Given the description of an element on the screen output the (x, y) to click on. 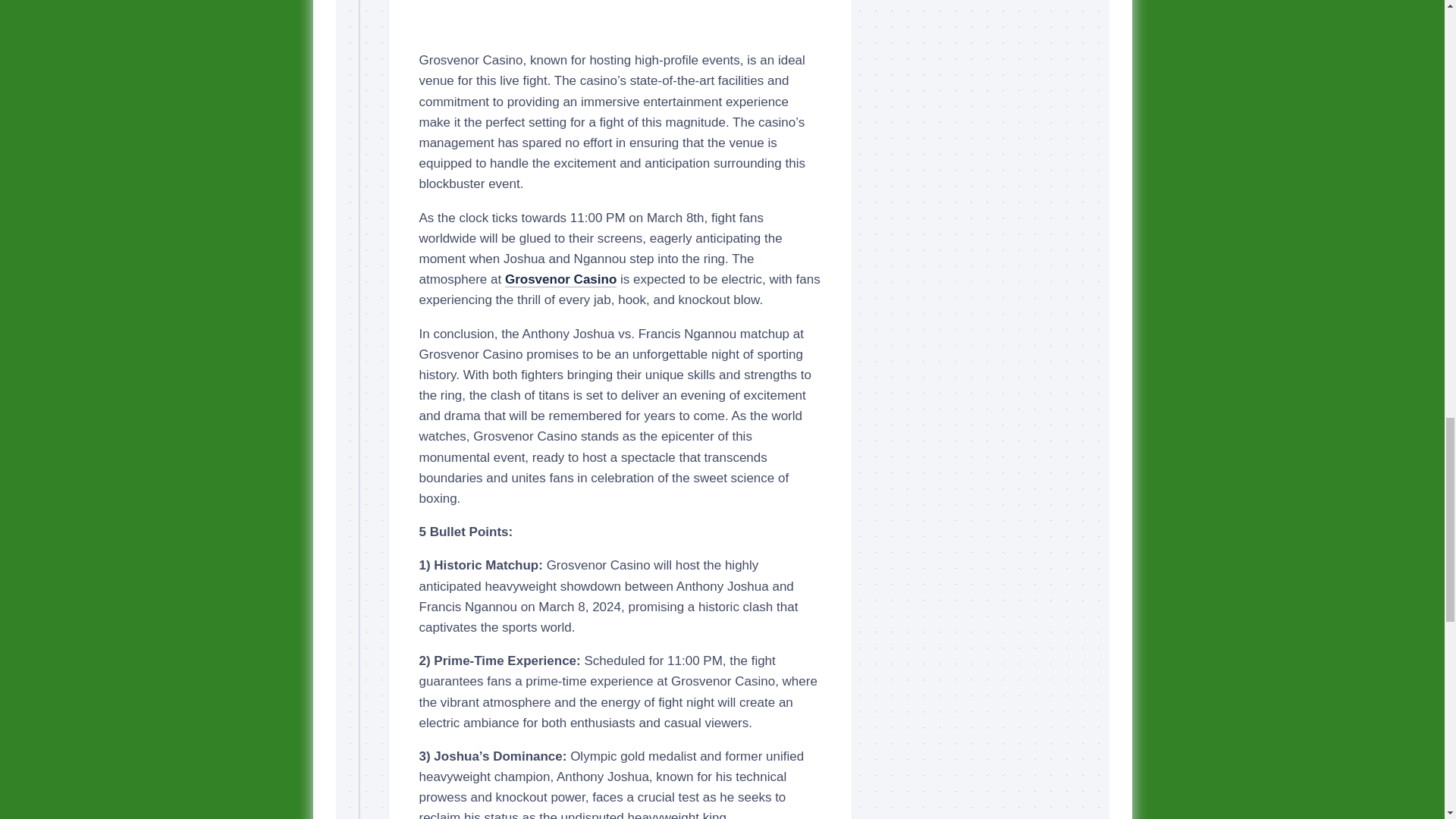
Grosvenor Casino (560, 278)
YouTube video player (620, 18)
